Given the description of an element on the screen output the (x, y) to click on. 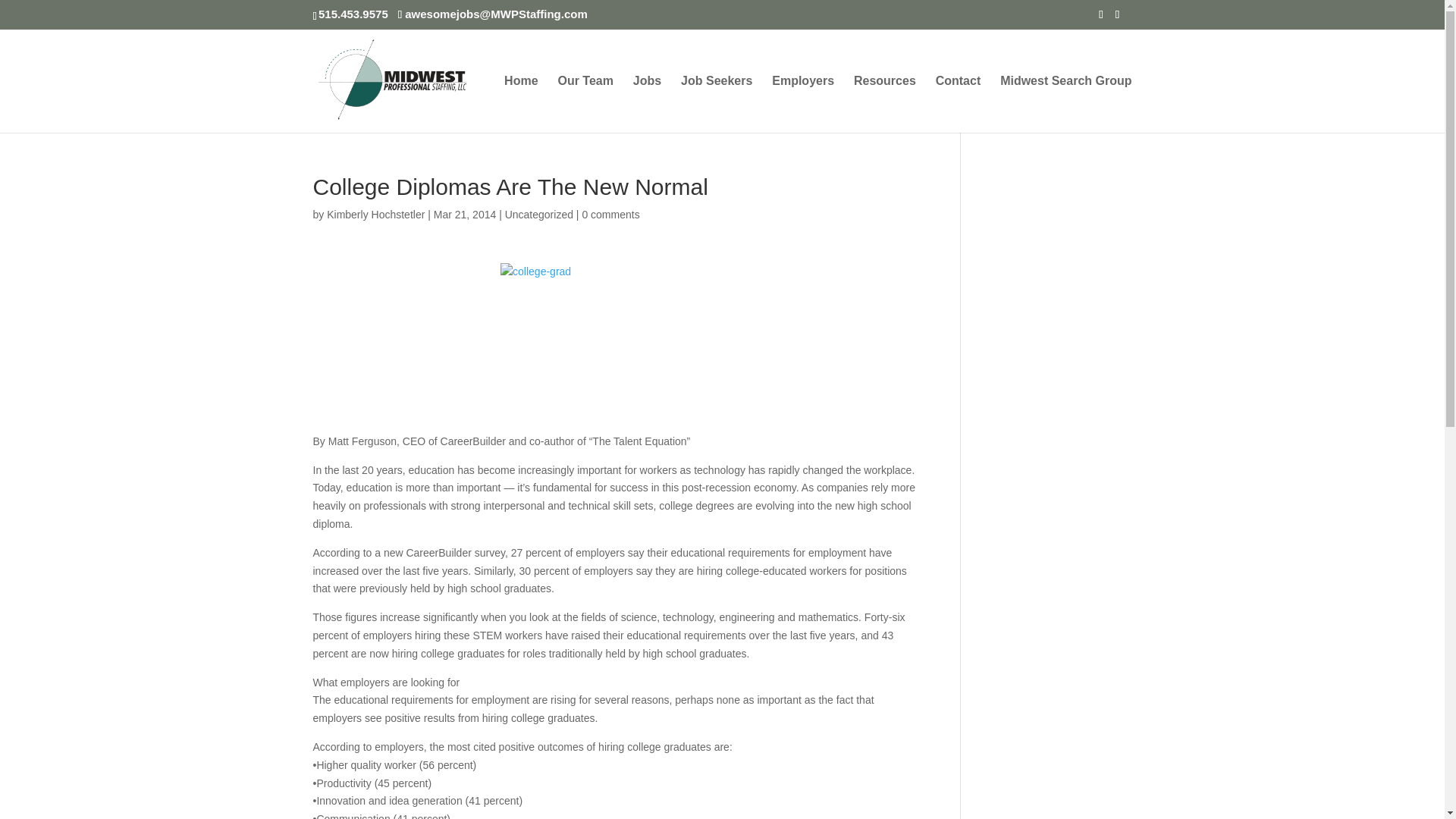
Employers (802, 104)
Job Seekers (716, 104)
Midwest Search Group (1065, 104)
Resources (884, 104)
Uncategorized (539, 214)
Kimberly Hochstetler (375, 214)
Our Team (584, 104)
Posts by Kimberly Hochstetler (375, 214)
0 comments (609, 214)
